Given the description of an element on the screen output the (x, y) to click on. 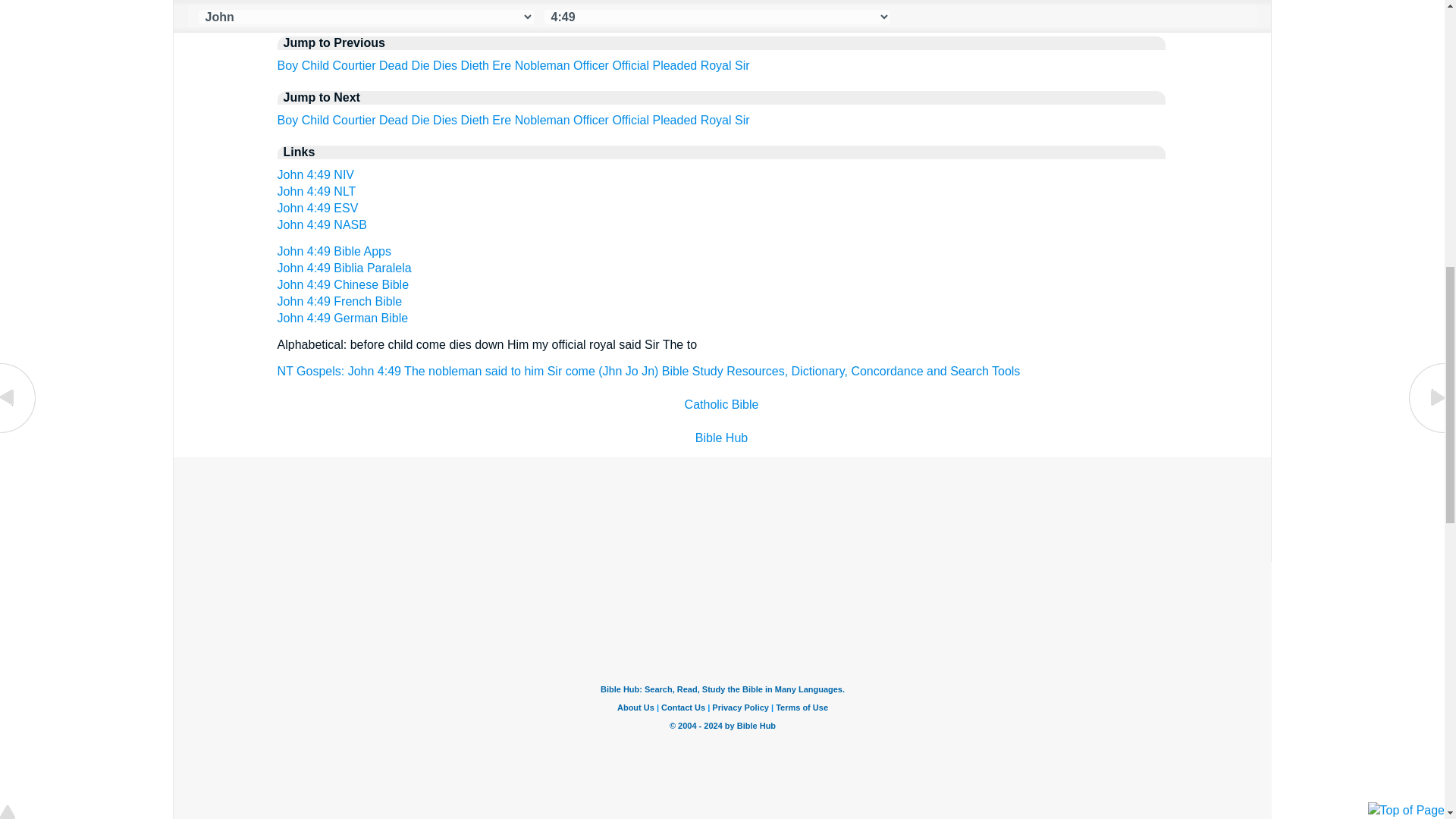
Dead (392, 65)
Dieth (475, 65)
Nobleman (542, 65)
Royal (716, 65)
Ere (501, 65)
Dies (444, 119)
Courtier (354, 119)
Dieth (475, 119)
Child (315, 65)
Nobleman (542, 119)
Sir (742, 65)
Dies (444, 65)
Ere (501, 119)
Dead (392, 119)
Die (420, 65)
